Given the description of an element on the screen output the (x, y) to click on. 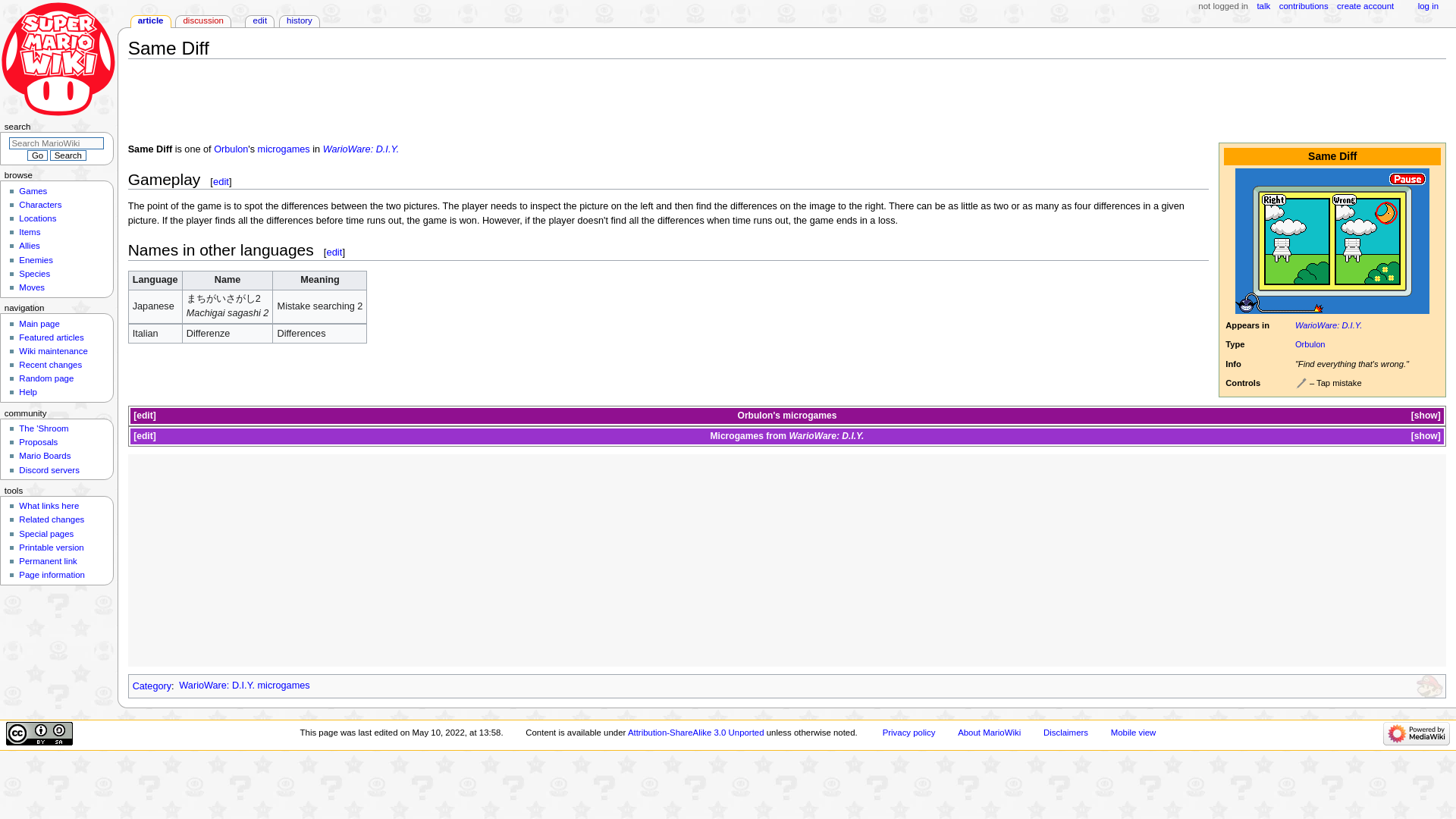
WarioWare: D.I.Y. (1328, 325)
edit (220, 181)
Search (67, 154)
Go (36, 154)
Microgame (283, 149)
Stylus (1301, 383)
microgames (809, 415)
Orbulon (754, 415)
WarioWare: D.I.Y. (360, 149)
